Given the description of an element on the screen output the (x, y) to click on. 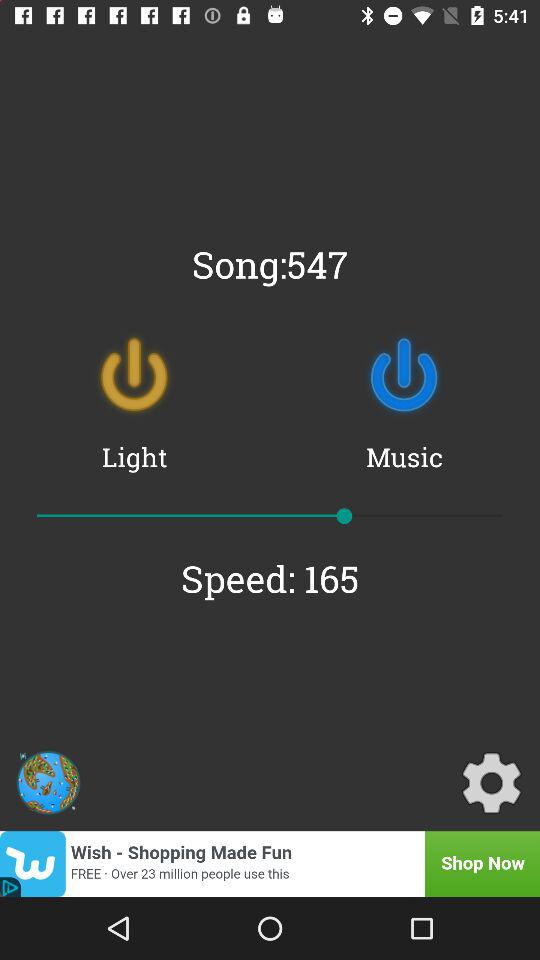
turn off item above the light (134, 375)
